Given the description of an element on the screen output the (x, y) to click on. 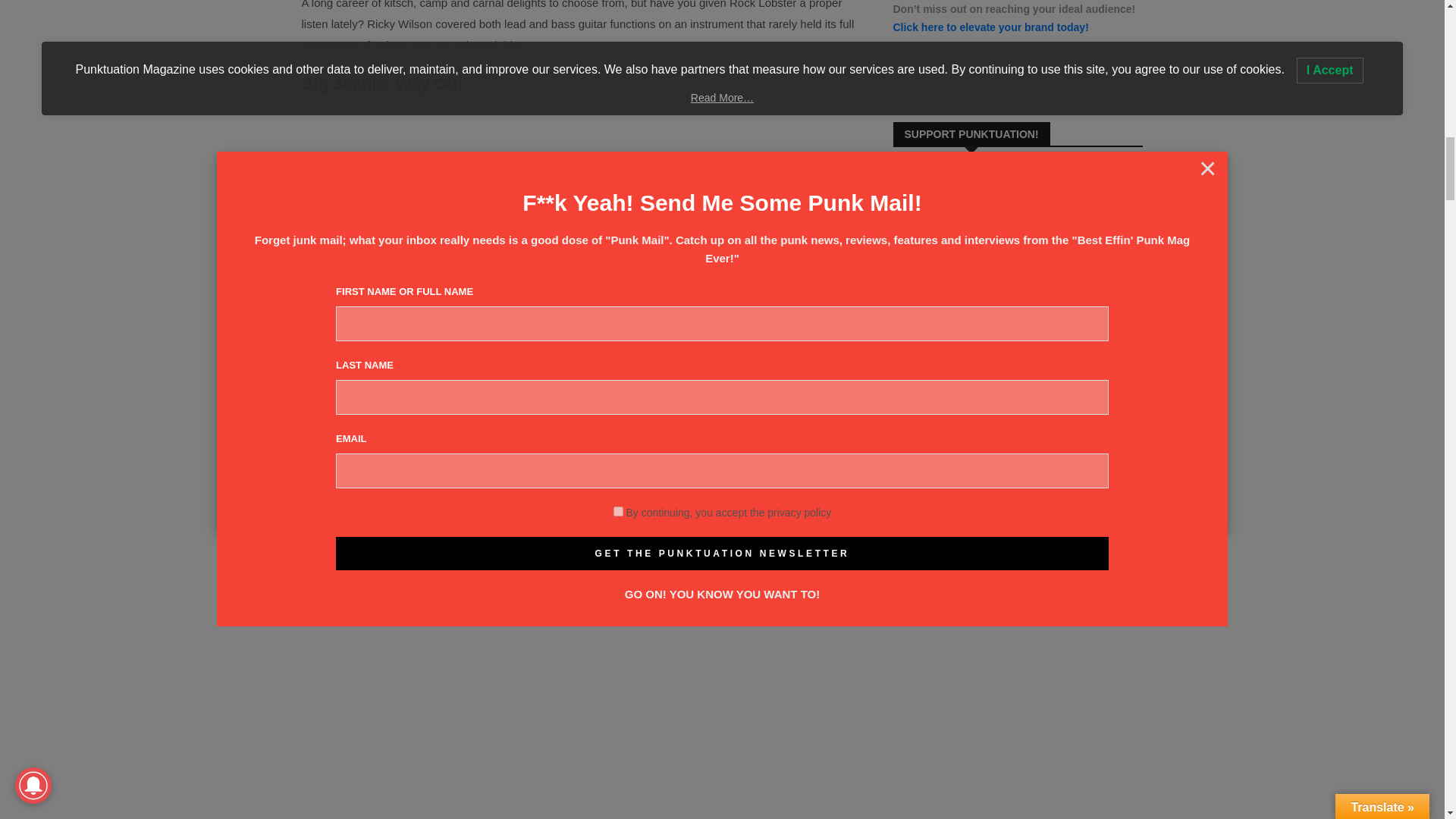
CLICK HERE (924, 544)
Click here to elevate your brand today! (991, 27)
